Given the description of an element on the screen output the (x, y) to click on. 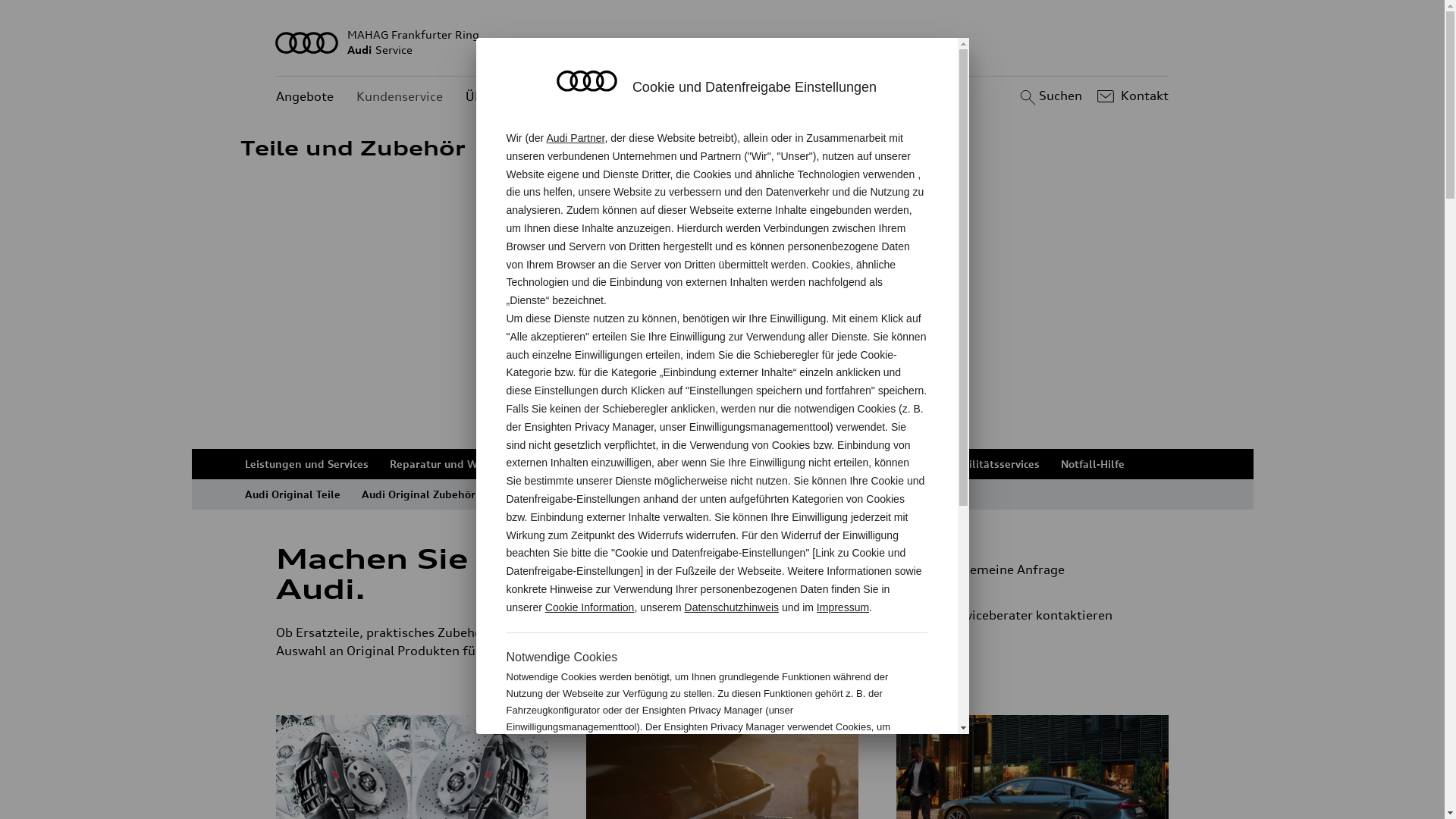
Angebote Element type: text (304, 96)
Audi Partner Element type: text (575, 137)
Audi Shopping World Element type: text (551, 494)
Kontakt Element type: text (1130, 96)
Serviceberater kontaktieren Element type: text (1044, 614)
Audi Original Teile Element type: text (291, 494)
Impressum Element type: text (842, 607)
Notfall-Hilfe Element type: text (1091, 463)
Versicherungen Element type: text (818, 463)
Cookie Information Element type: text (589, 607)
Garantie Element type: text (903, 463)
Cookie Information Element type: text (847, 776)
Kundenservice Element type: text (399, 96)
Datenschutzhinweis Element type: text (731, 607)
MAHAG Frankfurter Ring
AudiService Element type: text (722, 42)
Leistungen und Services Element type: text (305, 463)
Reparatur und Wartung Element type: text (451, 463)
Ihre Ansprechpartner Element type: text (703, 463)
Suchen Element type: text (1049, 96)
Allgemeine Anfrage Element type: text (1038, 569)
